Given the description of an element on the screen output the (x, y) to click on. 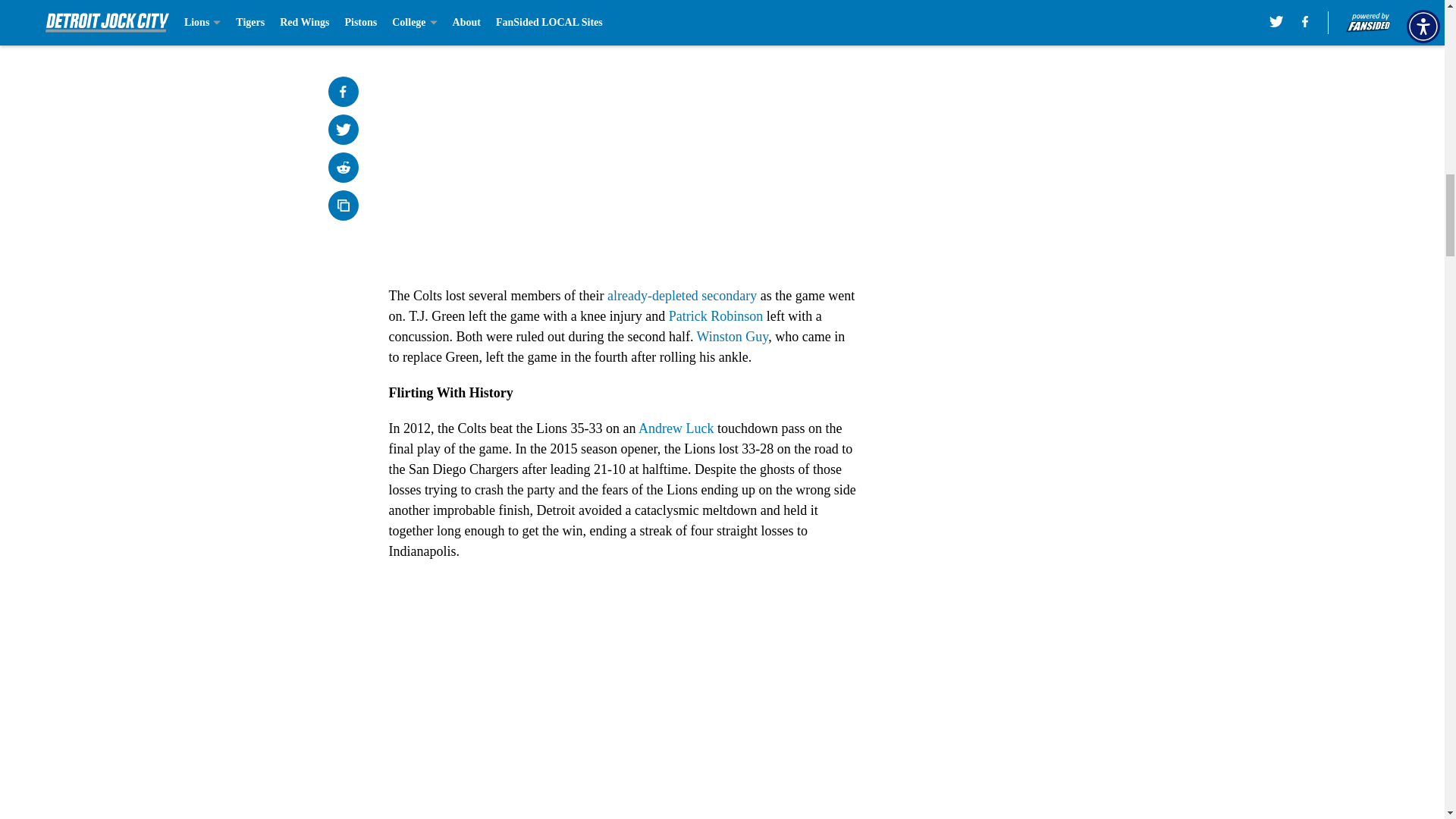
already-depleted secondary (682, 295)
Winston Guy (732, 336)
Patrick Robinson (715, 315)
Andrew Luck (676, 427)
Wallace Gilberry (516, 4)
